Given the description of an element on the screen output the (x, y) to click on. 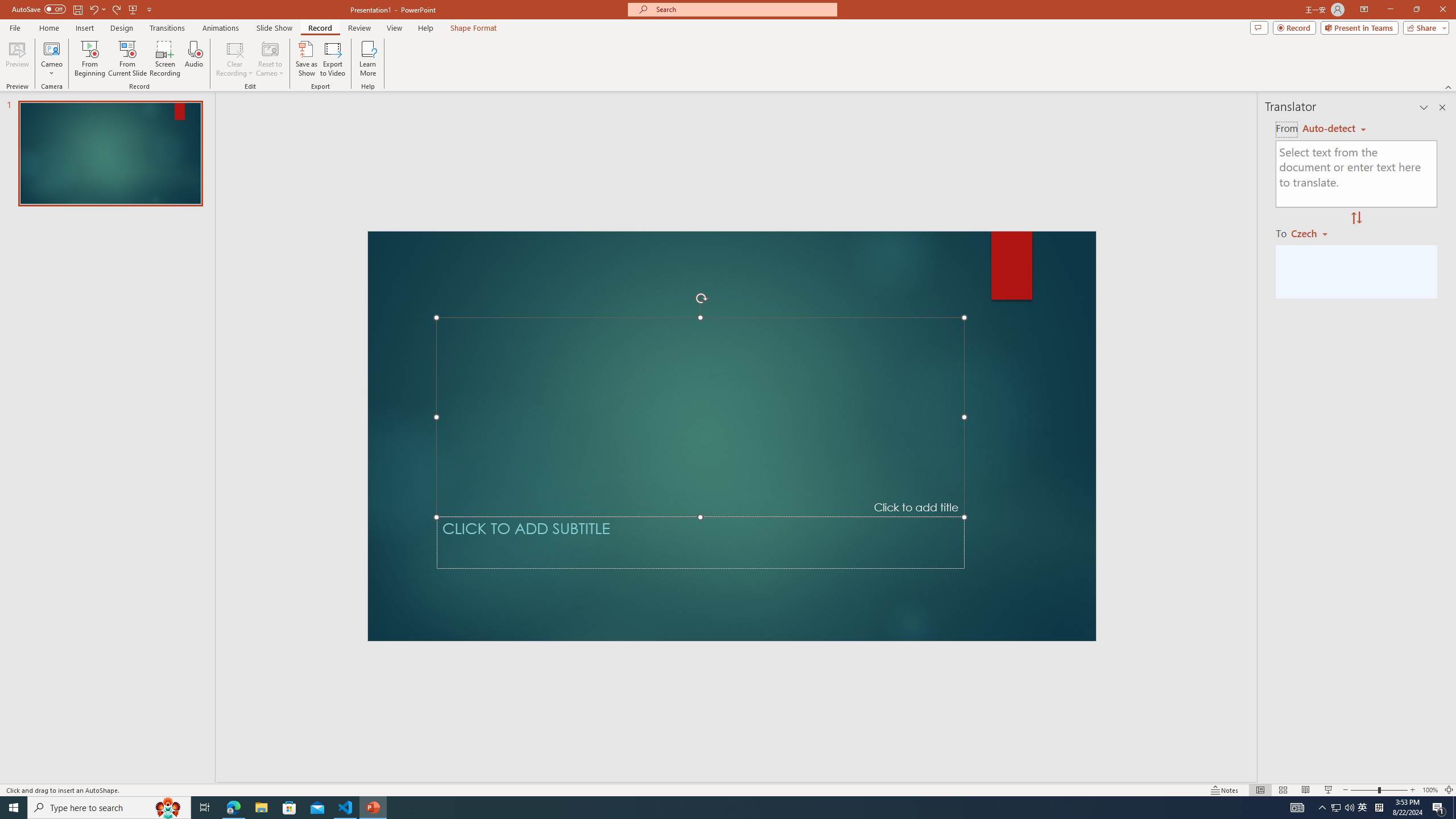
Cameo (51, 58)
Collapse the Ribbon (1448, 86)
Ribbon Display Options (1364, 9)
Redo (117, 9)
AutoSave (38, 9)
Clear Recording (234, 58)
Share (1423, 27)
Preview (17, 58)
Slide Sorter (1282, 790)
Class: MsoCommandBar (728, 789)
Export to Video (332, 58)
